Given the description of an element on the screen output the (x, y) to click on. 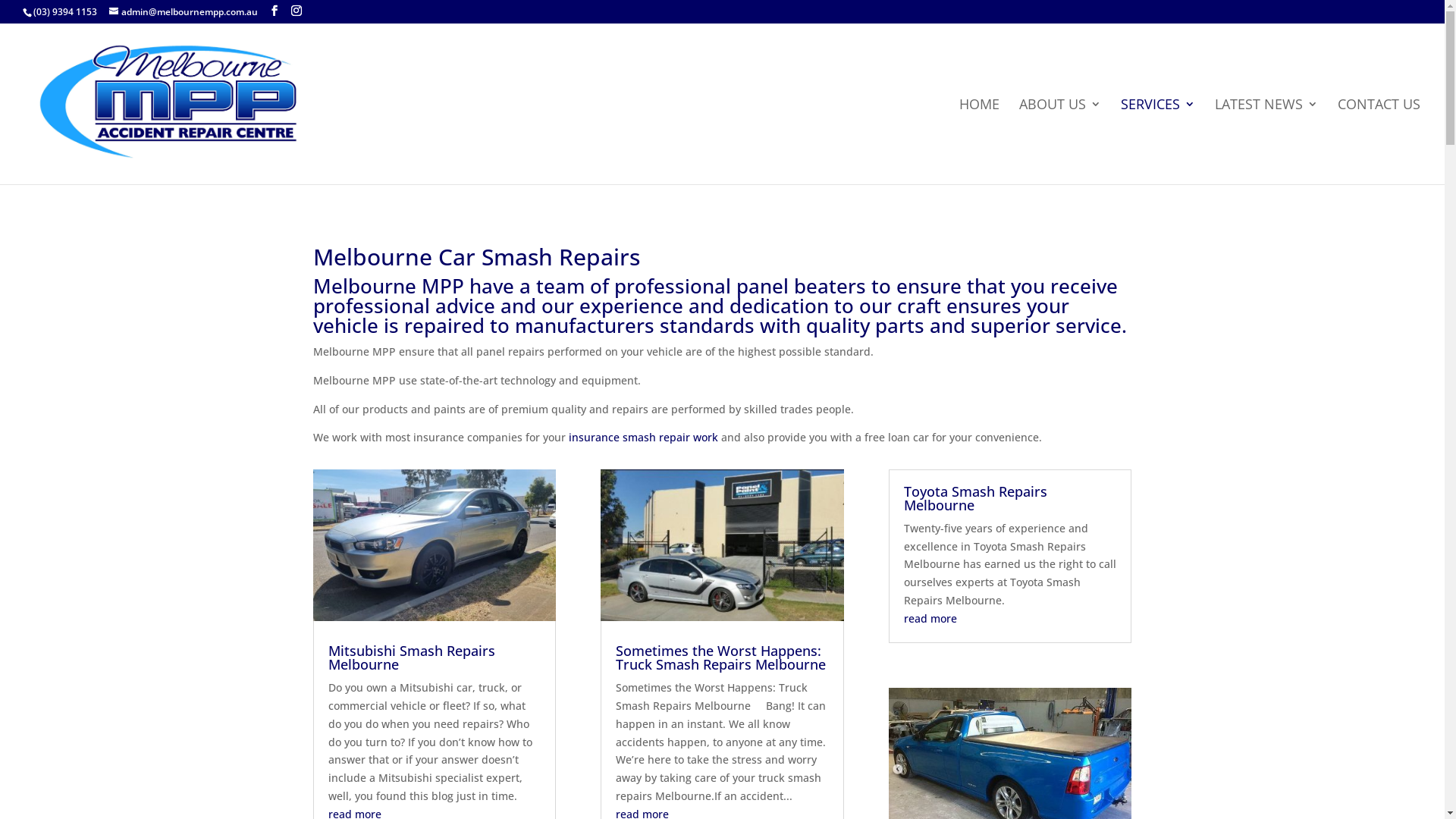
Sometimes the Worst Happens: Truck Smash Repairs Melbourne Element type: text (720, 657)
LATEST NEWS Element type: text (1265, 141)
insurance smash repair work Element type: text (643, 436)
CONTACT US Element type: text (1378, 141)
admin@melbournempp.com.au Element type: text (183, 11)
SERVICES Element type: text (1157, 141)
ABOUT US Element type: text (1060, 141)
HOME Element type: text (979, 141)
read more Element type: text (930, 618)
Mitsubishi Smash Repairs Melbourne Element type: text (410, 657)
Toyota Smash Repairs Melbourne Element type: text (975, 498)
